Given the description of an element on the screen output the (x, y) to click on. 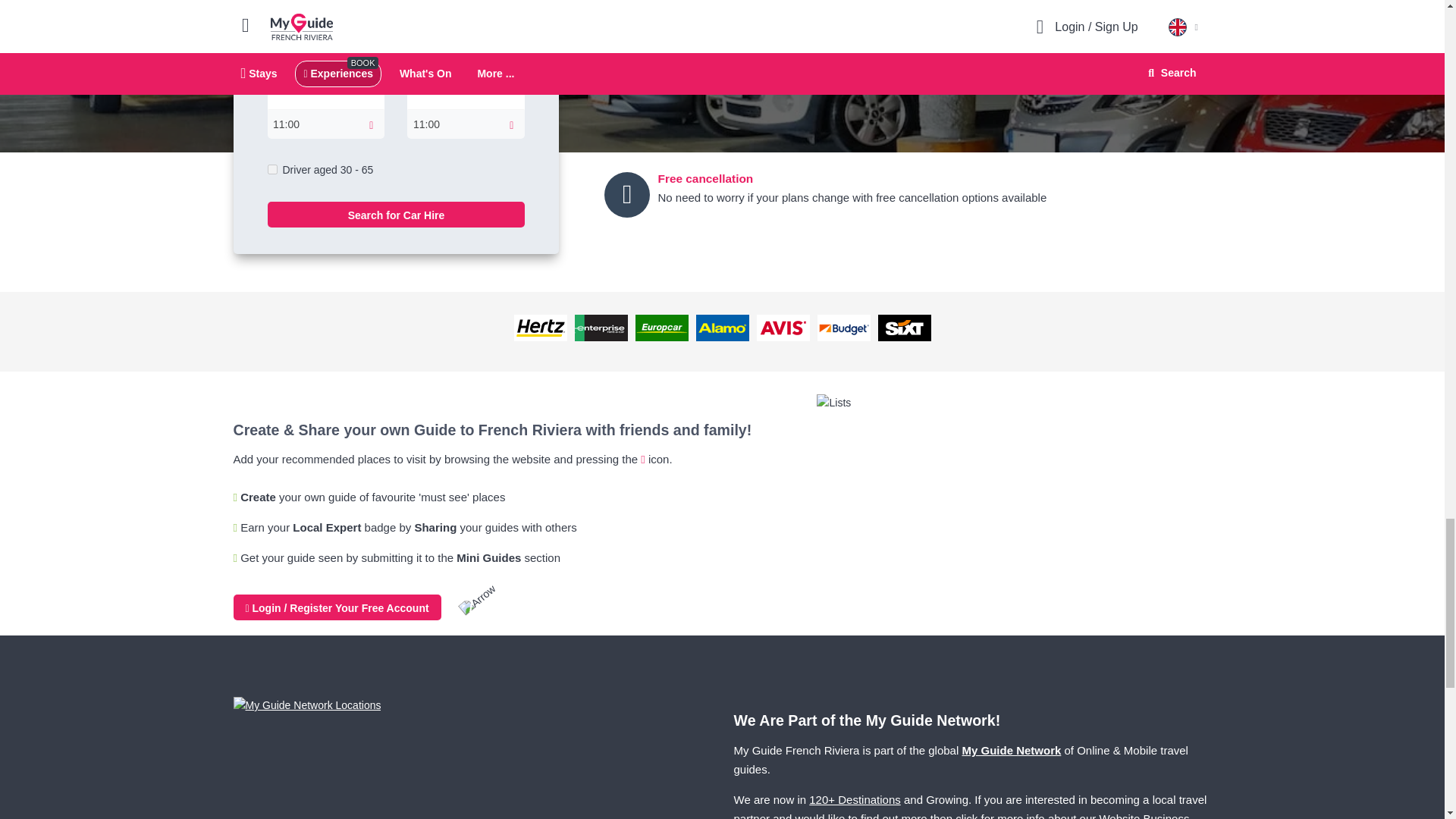
on (271, 169)
